Given the description of an element on the screen output the (x, y) to click on. 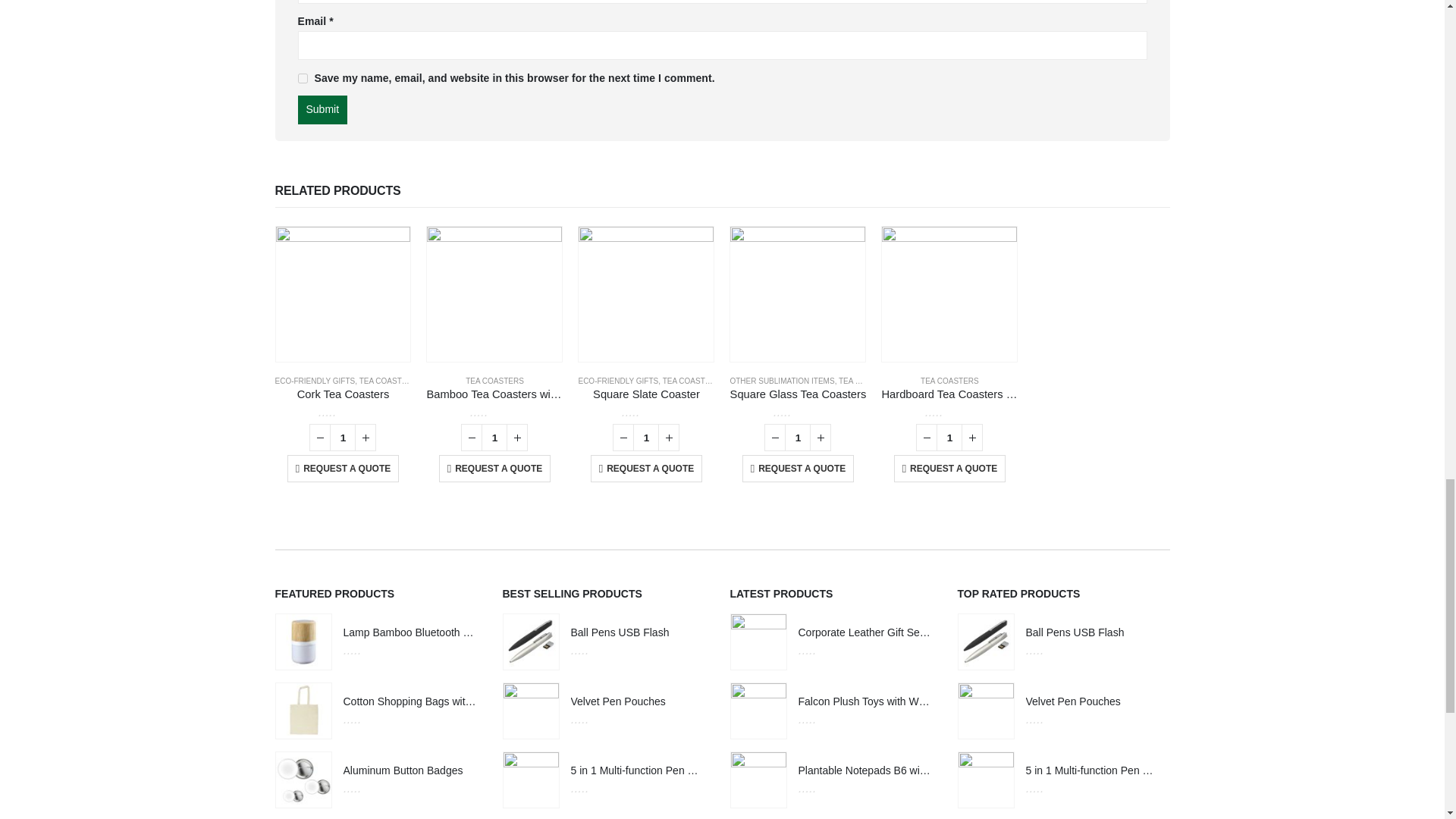
1 (646, 437)
1 (493, 437)
yes (302, 78)
1 (797, 437)
1 (342, 437)
1 (949, 437)
0 (646, 411)
0 (342, 411)
Submit (322, 109)
0 (493, 411)
